Given the description of an element on the screen output the (x, y) to click on. 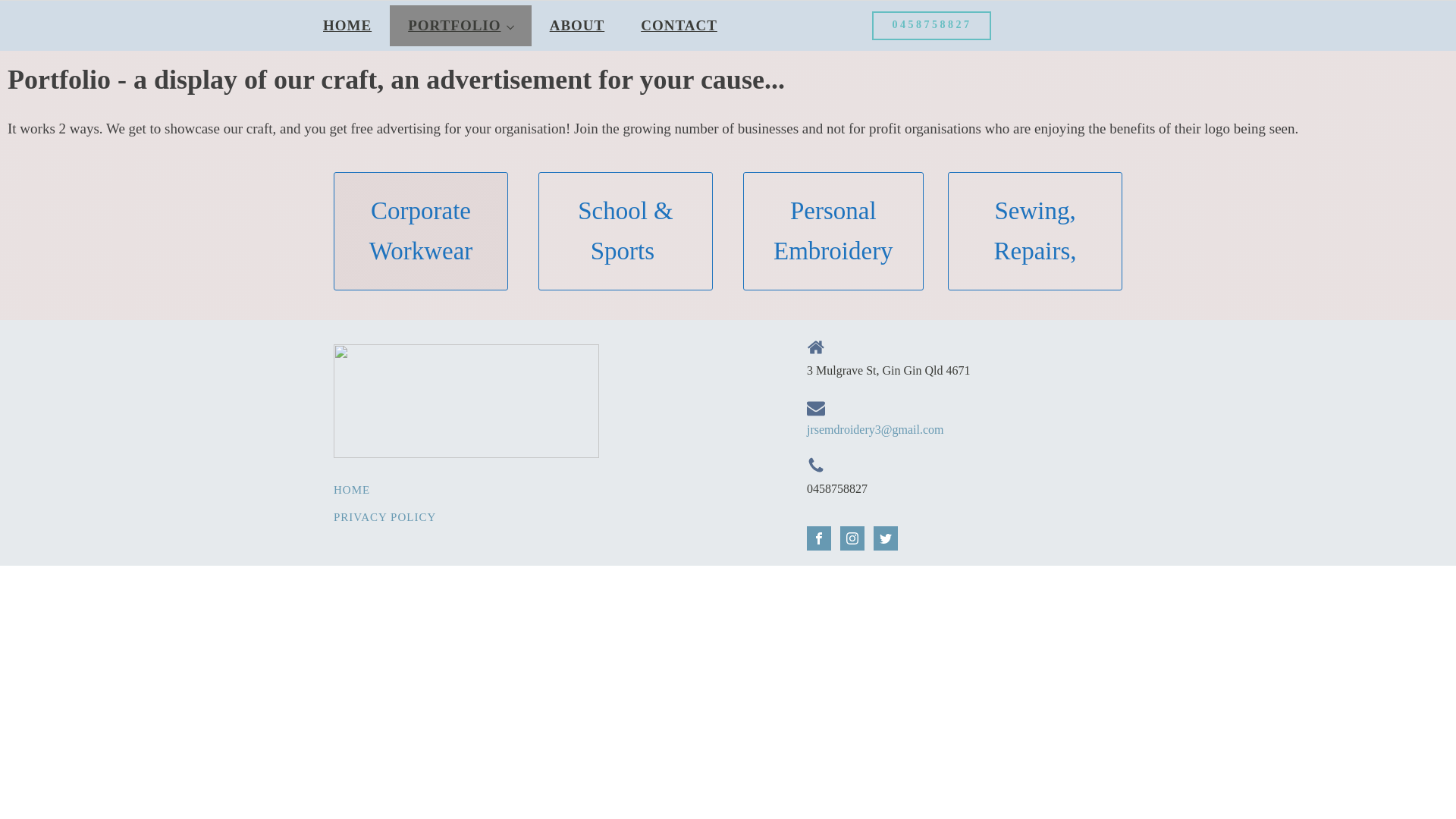
HOME Element type: text (346, 25)
Corporate Workwear Element type: text (420, 231)
jrsemdroidery3@gmail.com Element type: text (874, 429)
School & Sports  Element type: text (625, 231)
PORTFOLIO Element type: text (459, 25)
Personal Embroidery Element type: text (833, 231)
PRIVACY POLICY Element type: text (384, 516)
0458758827 Element type: text (931, 25)
CONTACT Element type: text (678, 25)
Sewing, Repairs, Element type: text (1034, 231)
HOME Element type: text (384, 489)
ABOUT Element type: text (577, 25)
